Given the description of an element on the screen output the (x, y) to click on. 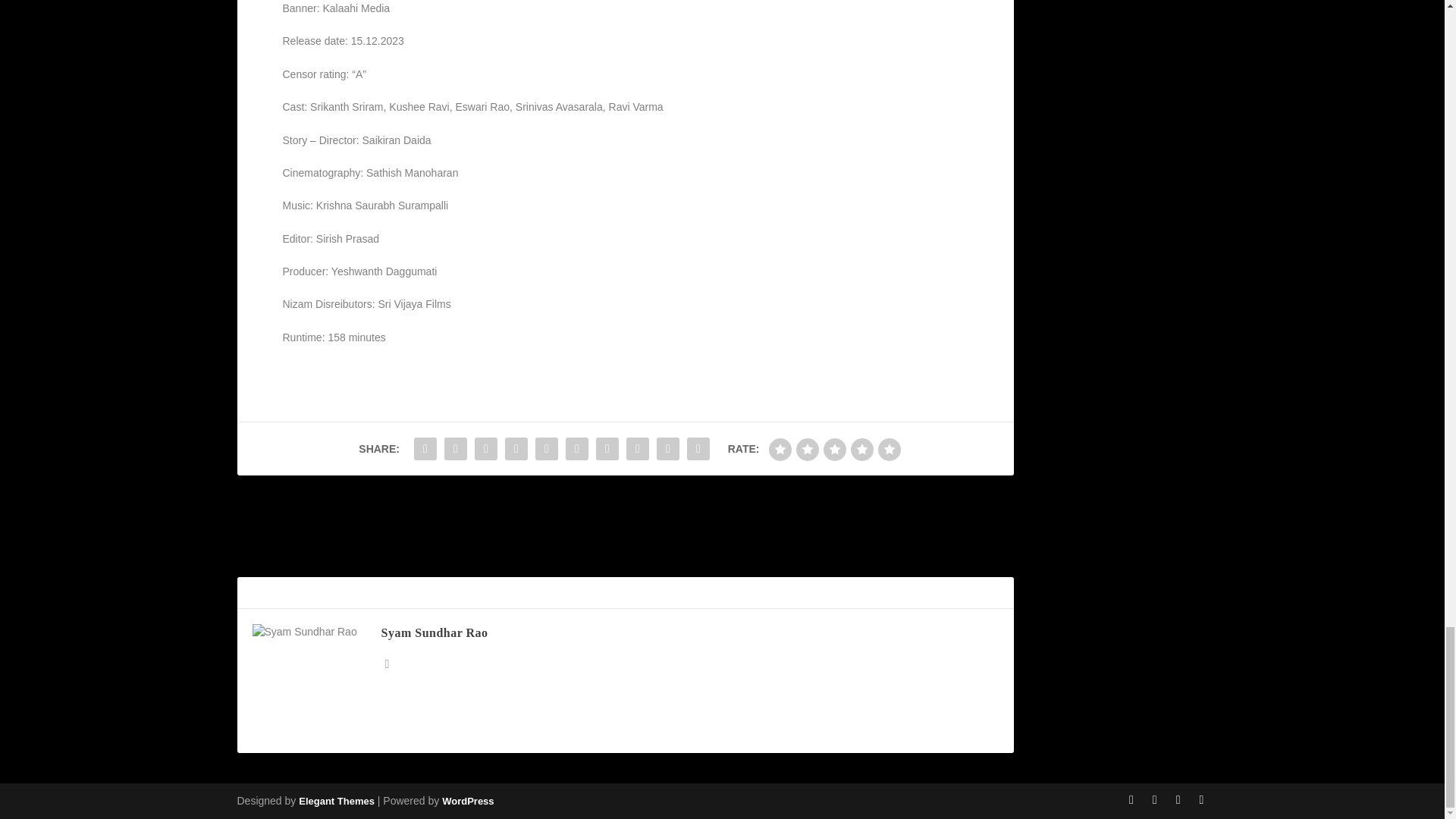
Share "Pindam Movie Review" via Twitter (455, 449)
Share "Pindam Movie Review" via Stumbleupon (637, 449)
Share "Pindam Movie Review" via Pinterest (546, 449)
Share "Pindam Movie Review" via Facebook (425, 449)
Share "Pindam Movie Review" via Print (697, 449)
bad (780, 449)
Share "Pindam Movie Review" via Email (667, 449)
Share "Pindam Movie Review" via Tumblr (515, 449)
Share "Pindam Movie Review" via LinkedIn (577, 449)
Share "Pindam Movie Review" via Buffer (607, 449)
